Given the description of an element on the screen output the (x, y) to click on. 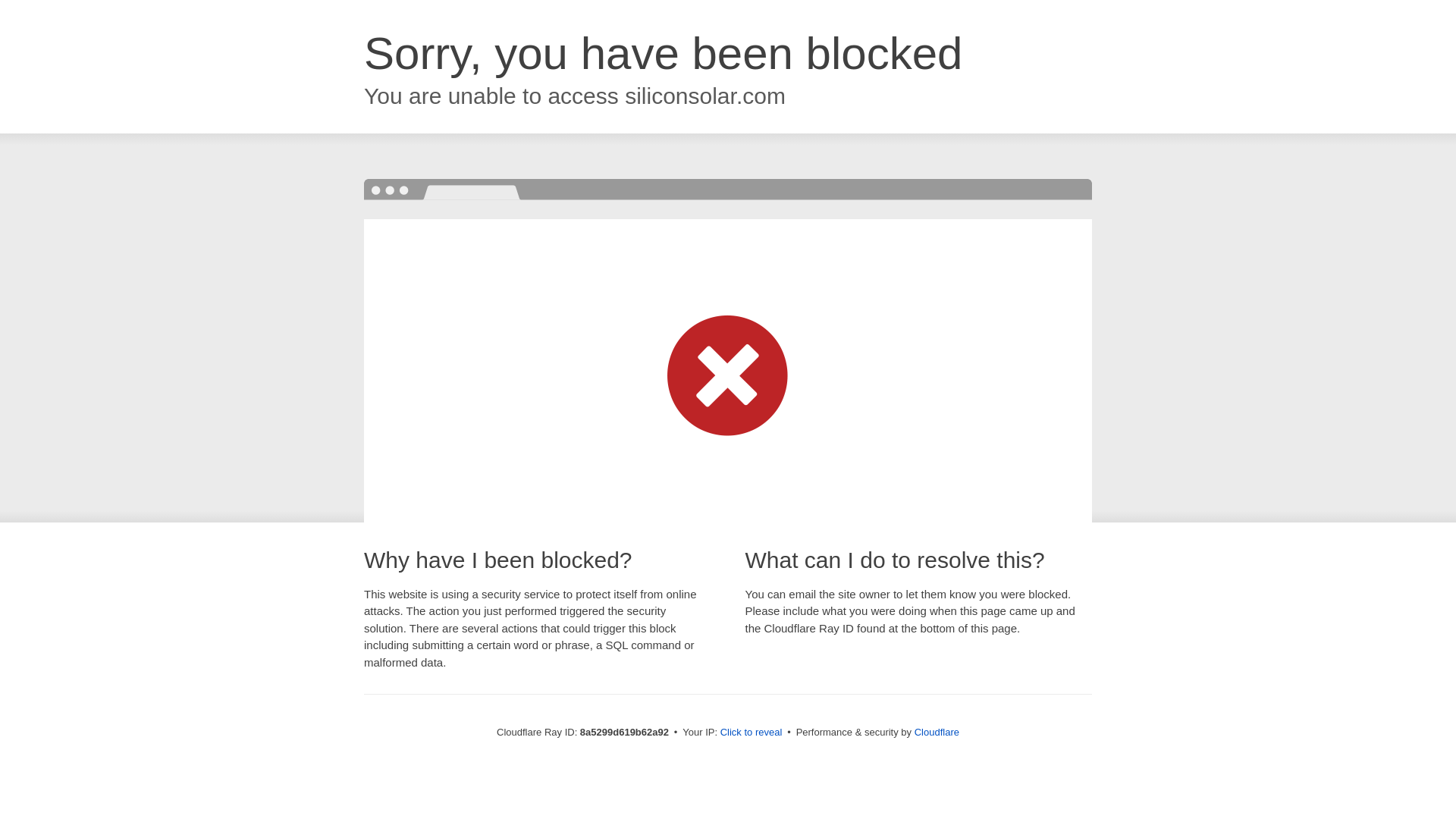
Click to reveal (751, 732)
Cloudflare (936, 731)
